Given the description of an element on the screen output the (x, y) to click on. 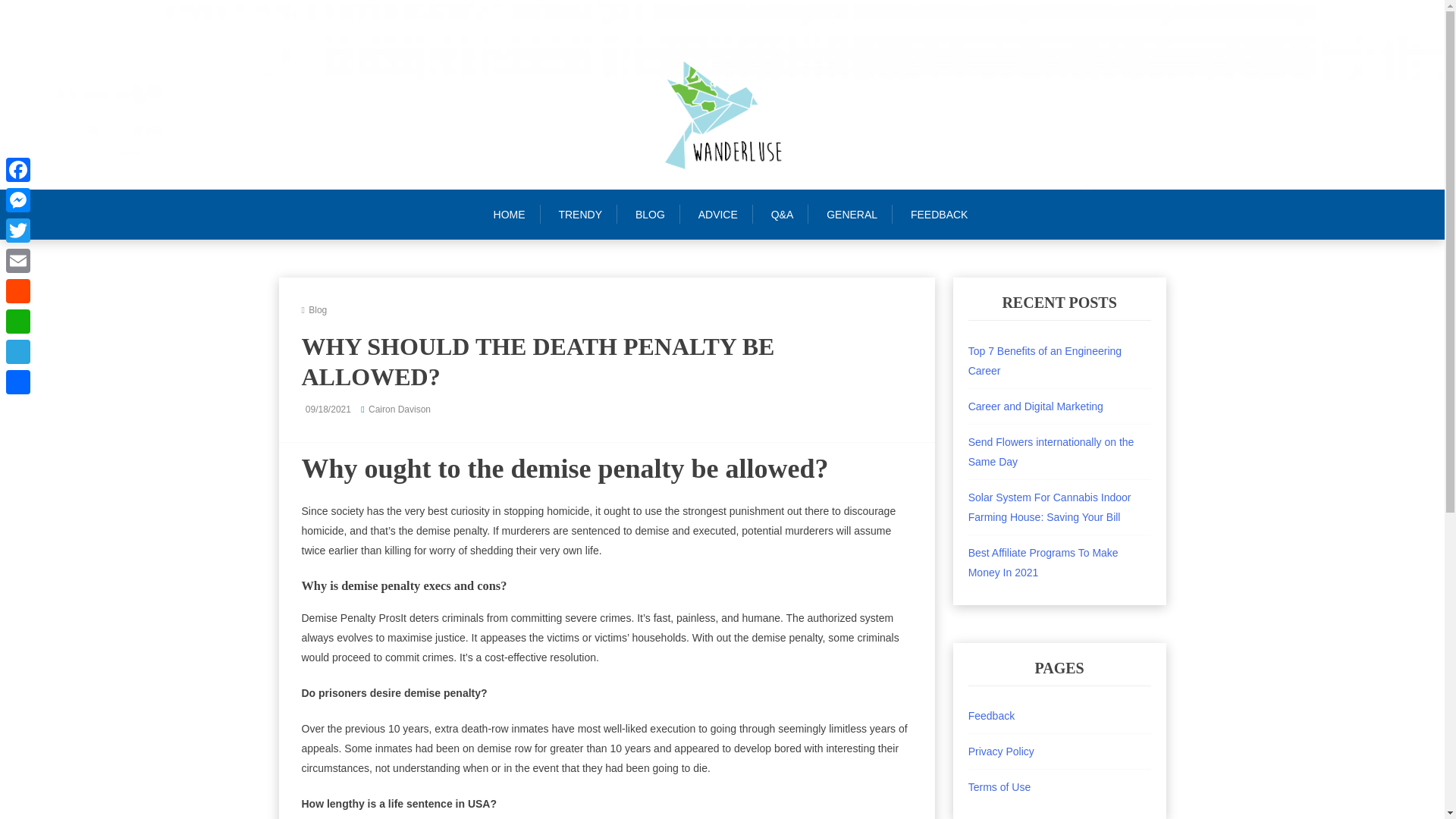
HOME (516, 214)
ADVICE (717, 214)
BLOG (649, 214)
Cairon Davison (399, 409)
Reddit (17, 291)
WhatsApp (17, 321)
TRENDY (580, 214)
Send Flowers internationally on the Same Day (1051, 451)
Email (17, 260)
